Given the description of an element on the screen output the (x, y) to click on. 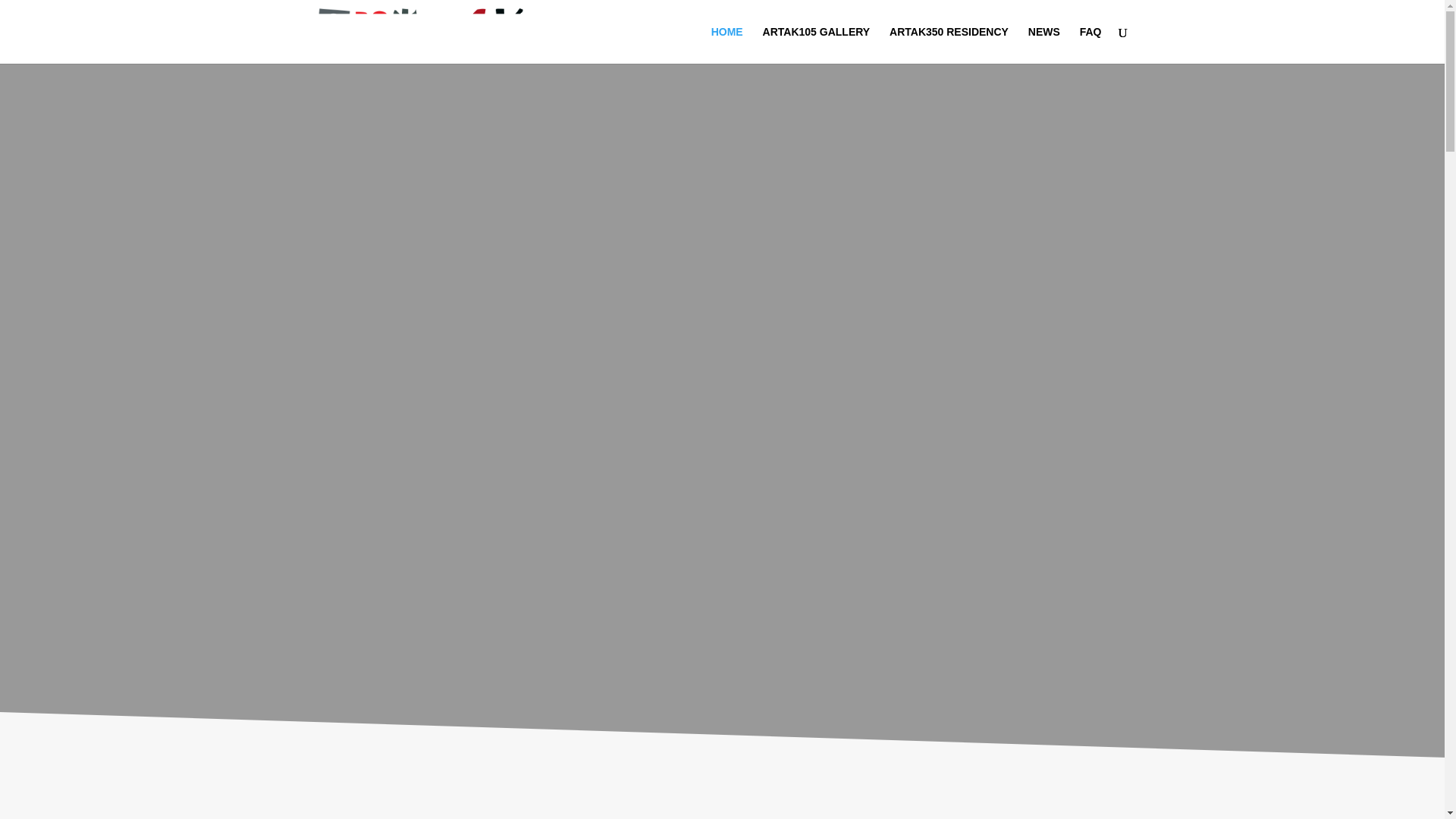
FAQ (1091, 44)
ARTAK105 GALLERY (816, 44)
ARTAK350 RESIDENCY (949, 44)
HOME (726, 44)
NEWS (1043, 44)
